Given the description of an element on the screen output the (x, y) to click on. 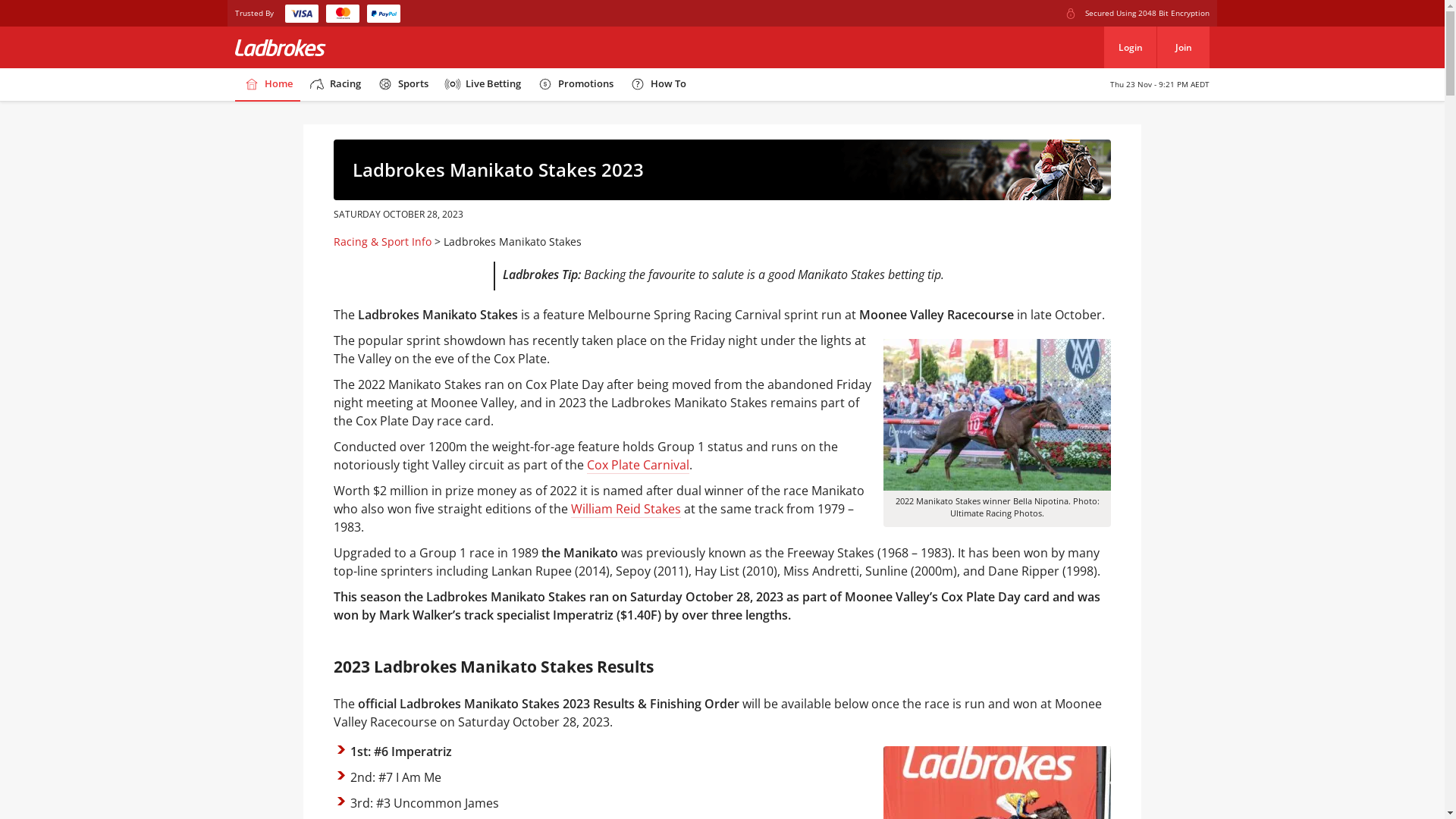
Login Element type: text (1129, 47)
Racing & Sport Info Element type: text (382, 241)
Join Element type: text (1182, 47)
Cox Plate Carnival Element type: text (637, 464)
Promotions Element type: text (574, 84)
How To Element type: text (657, 84)
Racing Element type: text (334, 84)
Sports Element type: text (402, 84)
William Reid Stakes Element type: text (625, 508)
Live Betting Element type: text (482, 84)
Home Element type: text (267, 84)
